Given the description of an element on the screen output the (x, y) to click on. 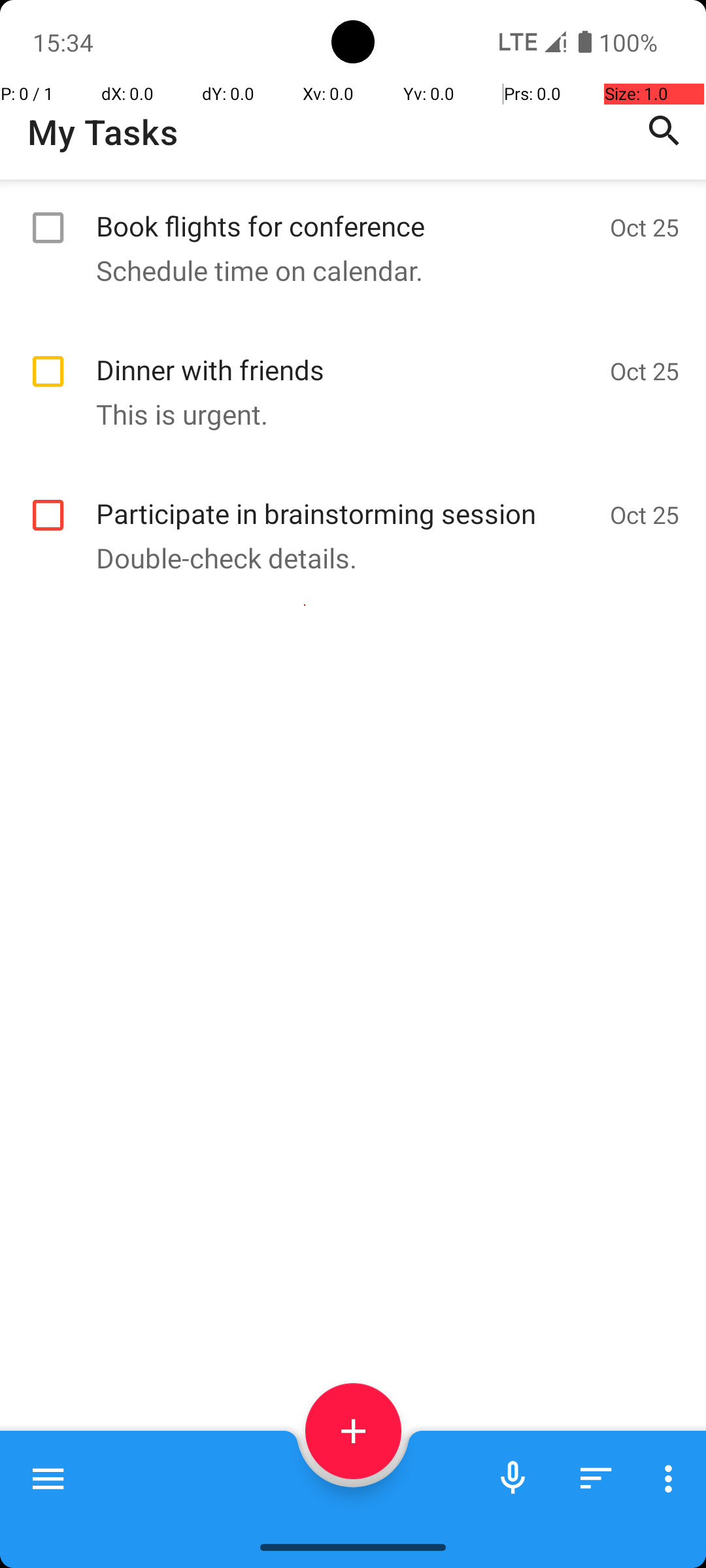
Book flights for conference Element type: android.widget.TextView (346, 211)
Schedule time on calendar. Element type: android.widget.TextView (346, 269)
Oct 25 Element type: android.widget.TextView (644, 226)
Dinner with friends Element type: android.widget.TextView (346, 355)
This is urgent. Element type: android.widget.TextView (346, 413)
Participate in brainstorming session Element type: android.widget.TextView (346, 499)
Double-check details. Element type: android.widget.TextView (346, 557)
